Given the description of an element on the screen output the (x, y) to click on. 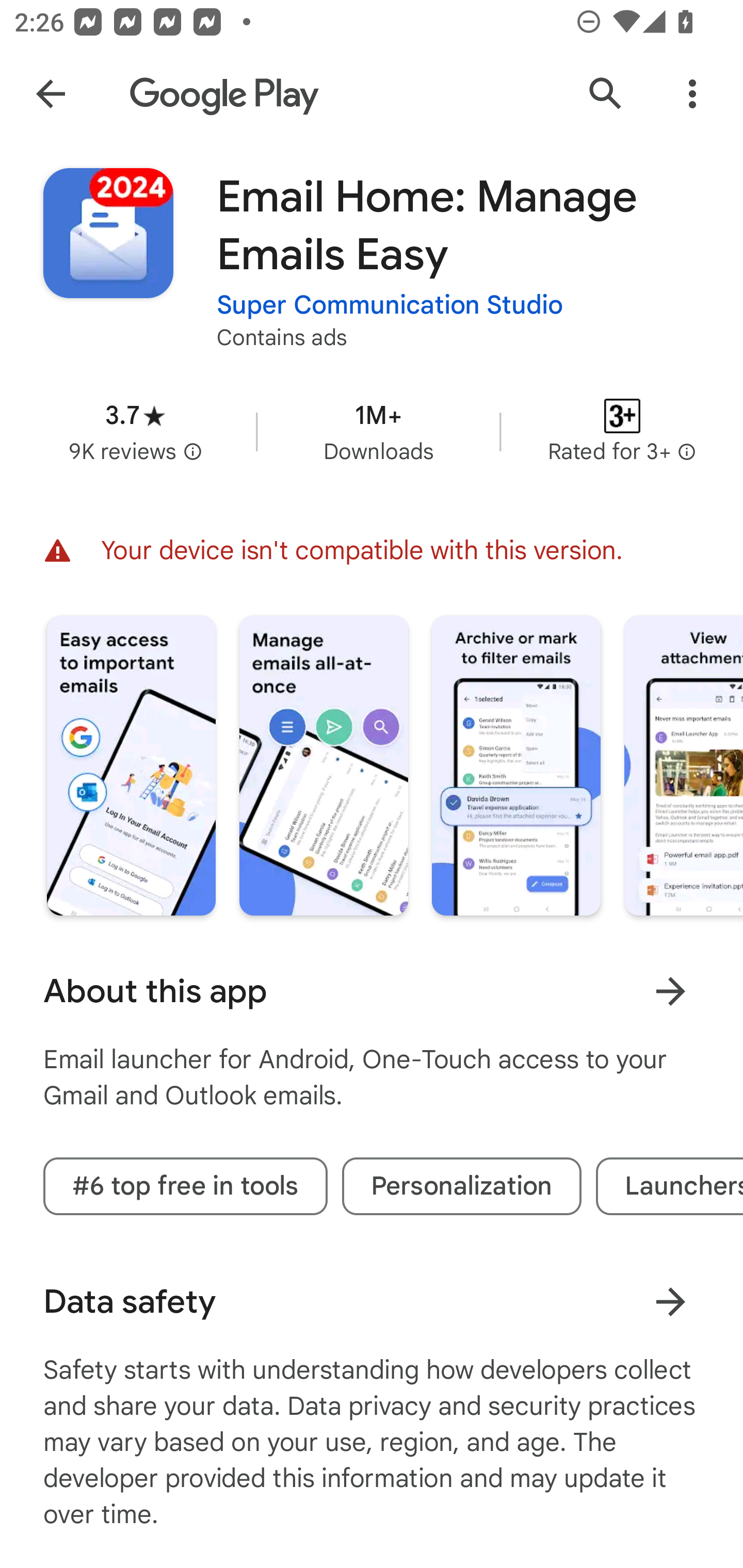
Navigate up (50, 93)
Search Google Play (605, 93)
More Options (692, 93)
Super Communication Studio (389, 304)
Average rating 3.7 stars in 9 thousand reviews (135, 431)
Content rating Rated for 3+ (622, 431)
Screenshot "1" of "6" (130, 765)
Screenshot "2" of "6" (323, 765)
Screenshot "3" of "6" (515, 765)
Screenshot "4" of "6" (683, 765)
About this app Learn more About this app (371, 990)
Learn more About this app (670, 991)
#6 top free in tools tag (185, 1186)
Personalization tag (461, 1186)
Launchers tag (669, 1186)
Data safety Learn more about data safety (371, 1301)
Learn more about data safety (670, 1302)
